Given the description of an element on the screen output the (x, y) to click on. 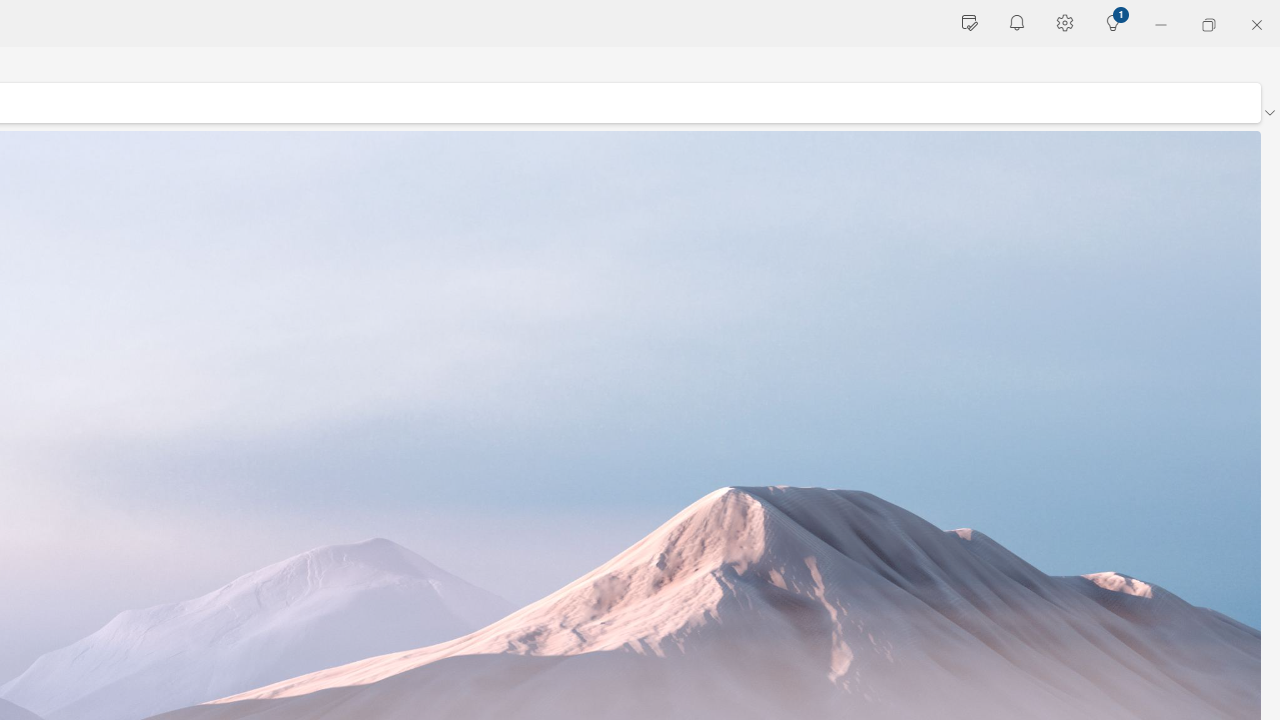
Ribbon display options (1269, 112)
